Given the description of an element on the screen output the (x, y) to click on. 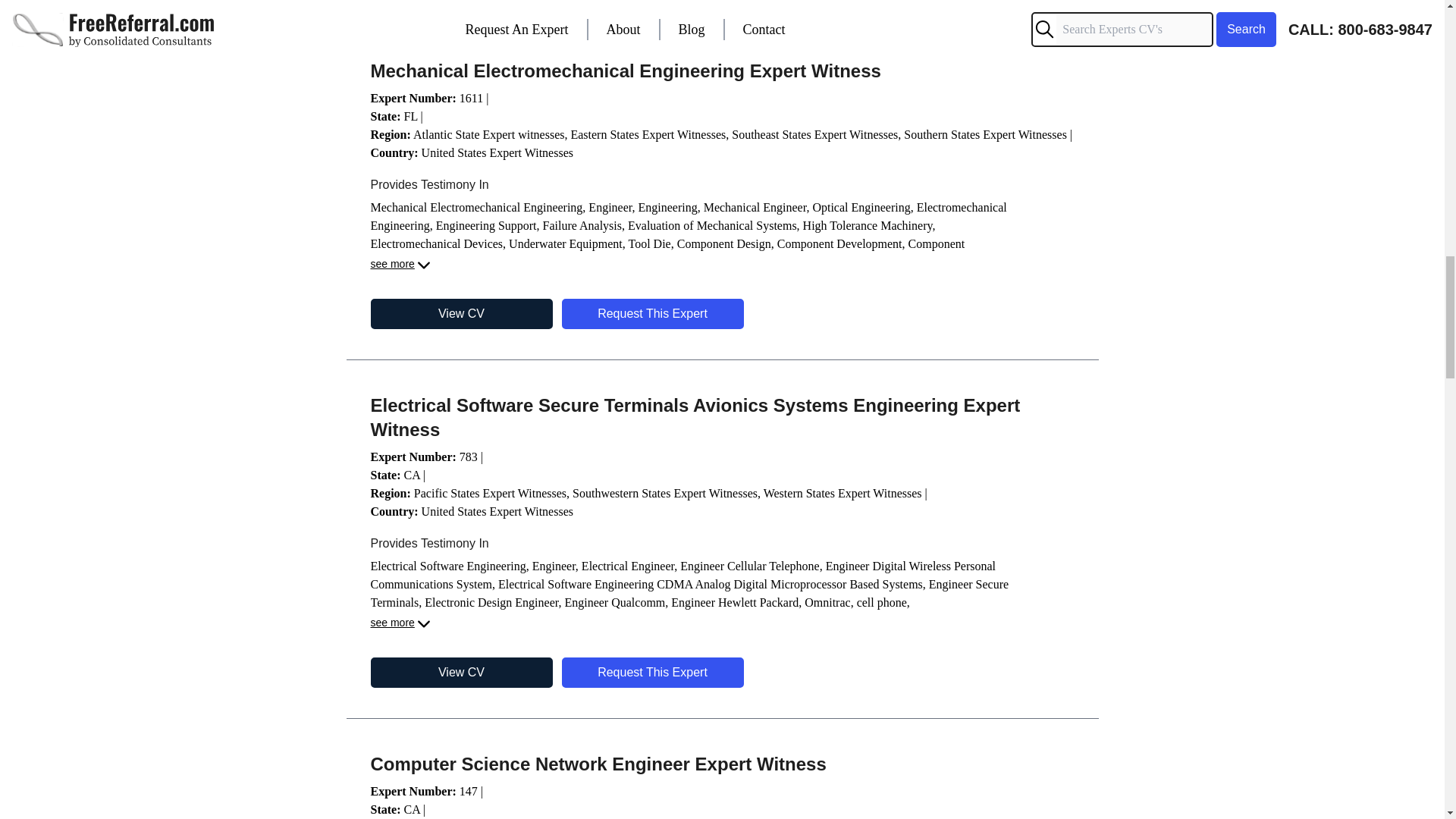
Request This Expert (651, 672)
View CV (460, 313)
Request This Expert (651, 313)
View CV (460, 672)
see more (400, 265)
see more (400, 624)
